Given the description of an element on the screen output the (x, y) to click on. 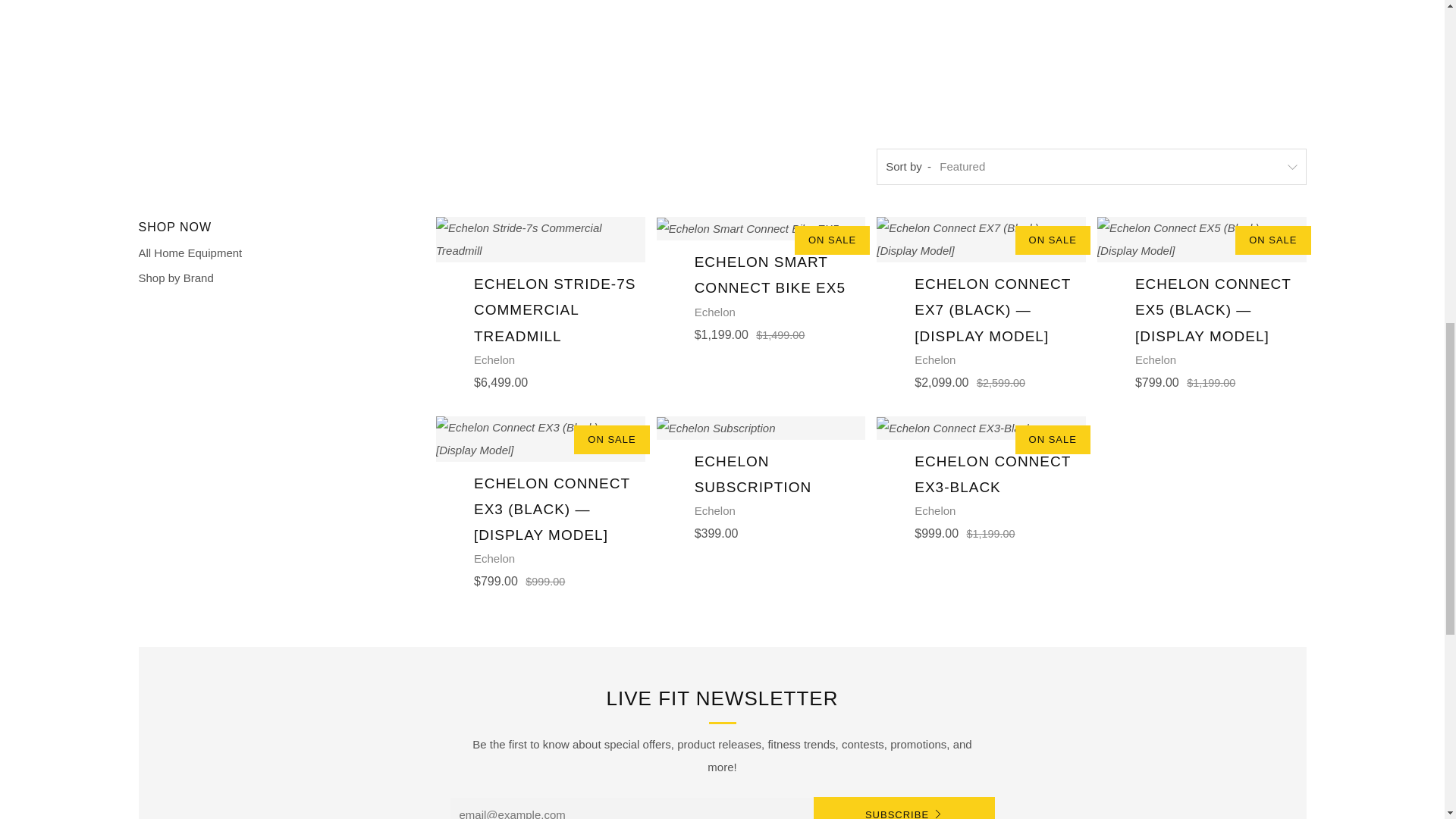
Echelon Subscription (761, 477)
YouTube video player (722, 61)
Echelon Stride-7s Commercial Treadmill (540, 303)
Echelon Connect EX3-Black (981, 477)
Echelon Smart Connect Bike EX5 (761, 278)
